Given the description of an element on the screen output the (x, y) to click on. 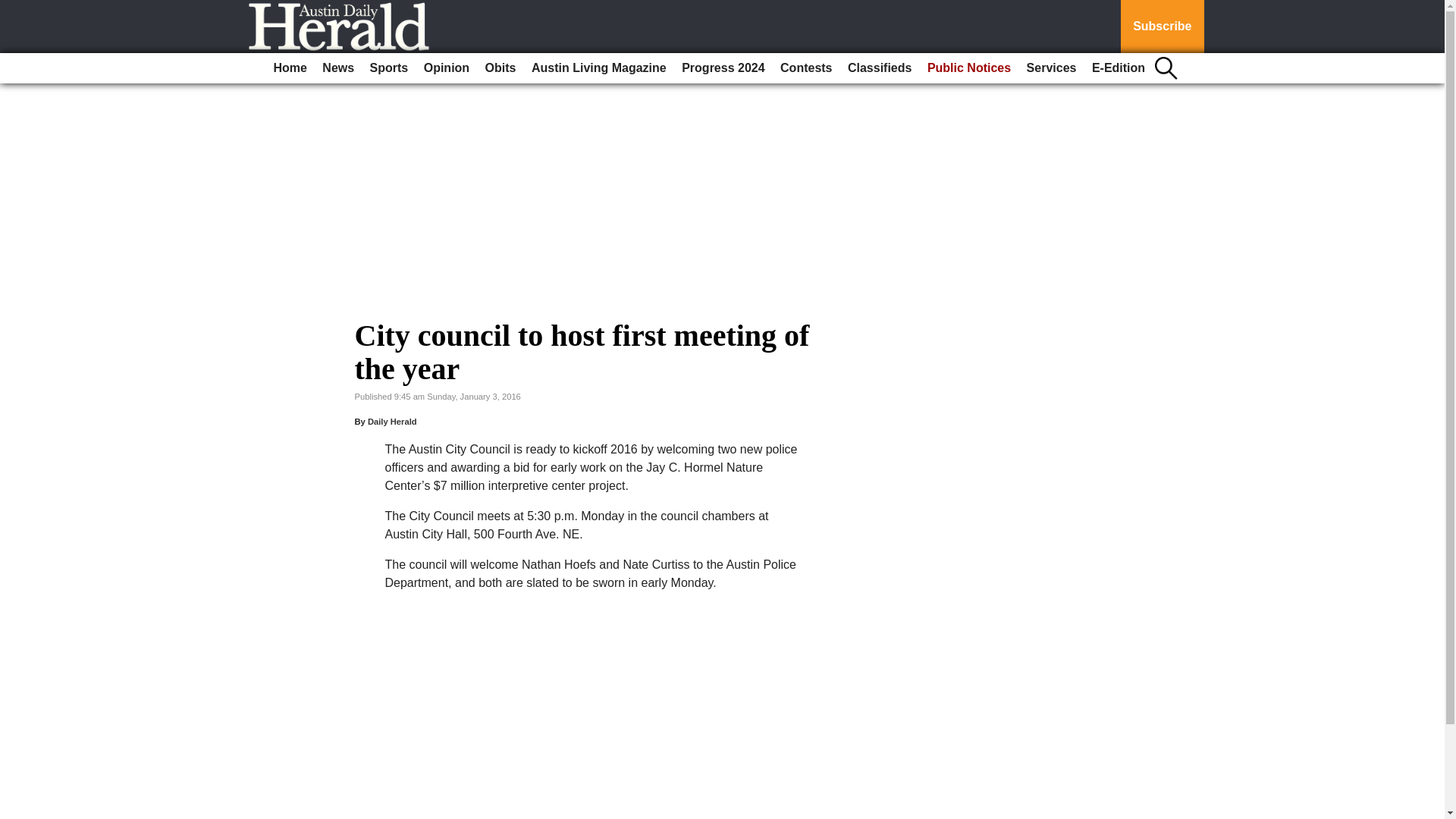
Classifieds (879, 68)
Subscribe (1162, 26)
Public Notices (968, 68)
Sports (389, 68)
Services (1051, 68)
Obits (500, 68)
Opinion (446, 68)
Austin Living Magazine (598, 68)
Home (289, 68)
Progress 2024 (722, 68)
